Given the description of an element on the screen output the (x, y) to click on. 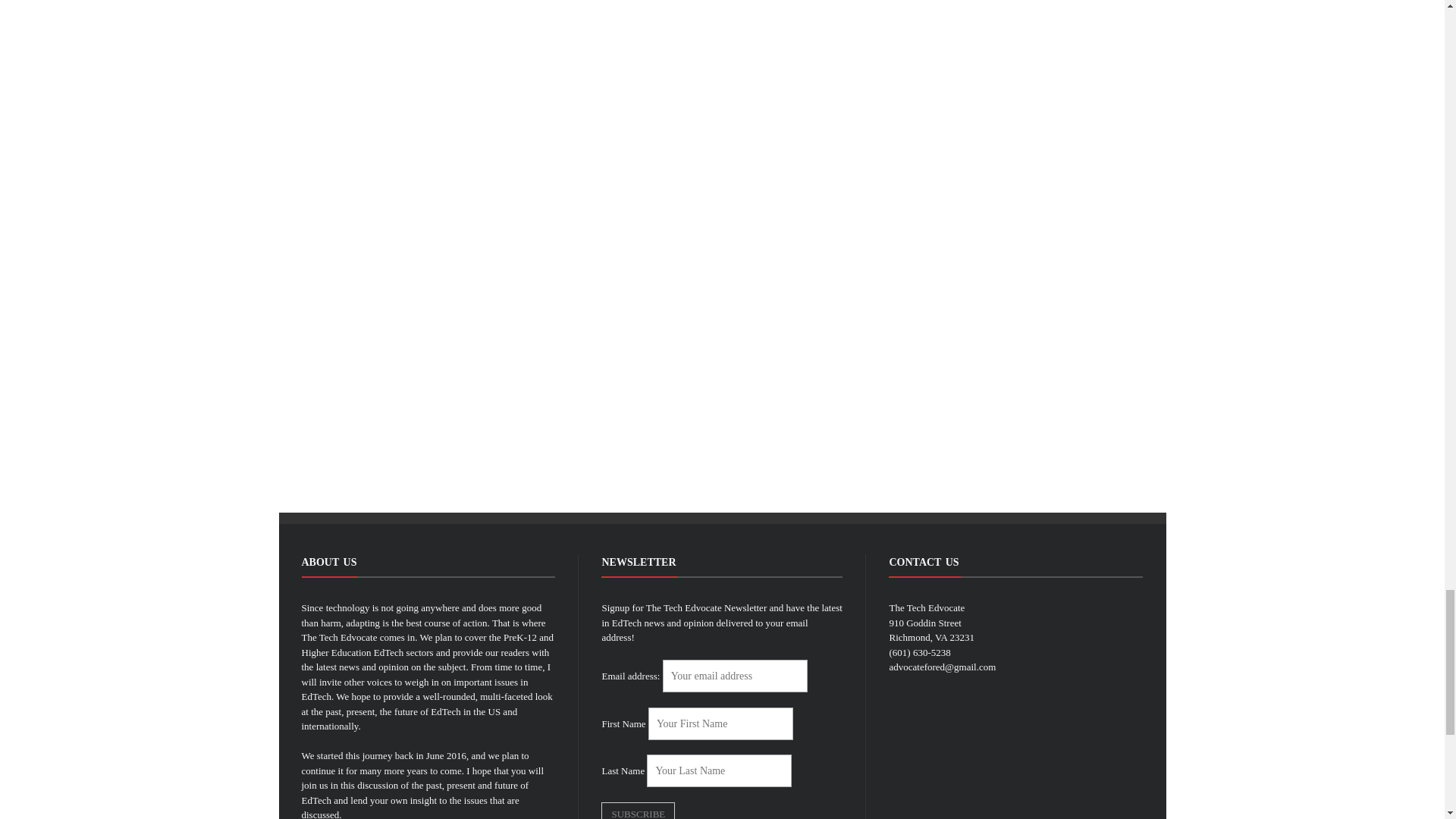
Subscribe (638, 810)
